Given the description of an element on the screen output the (x, y) to click on. 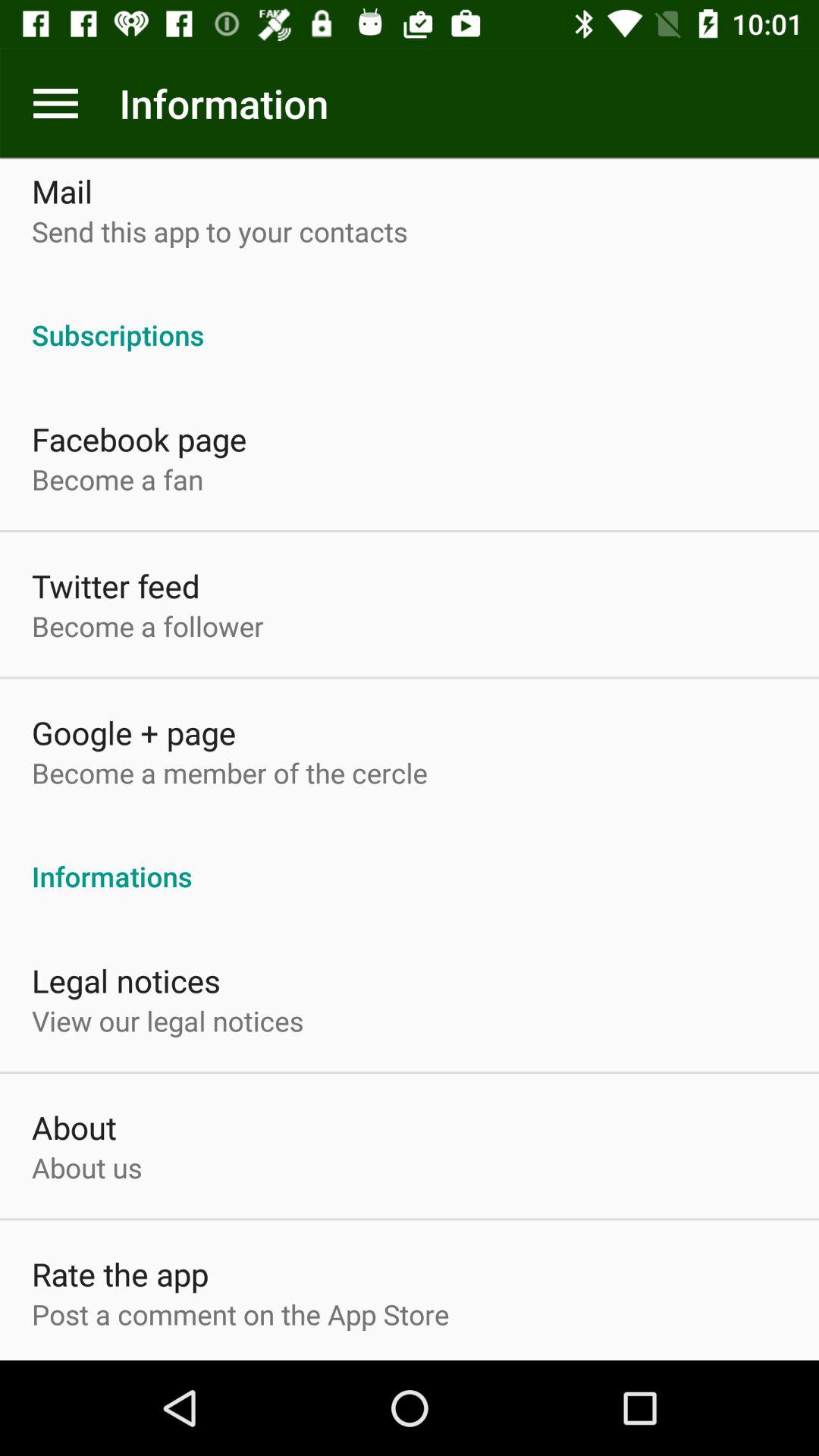
menu (55, 103)
